Given the description of an element on the screen output the (x, y) to click on. 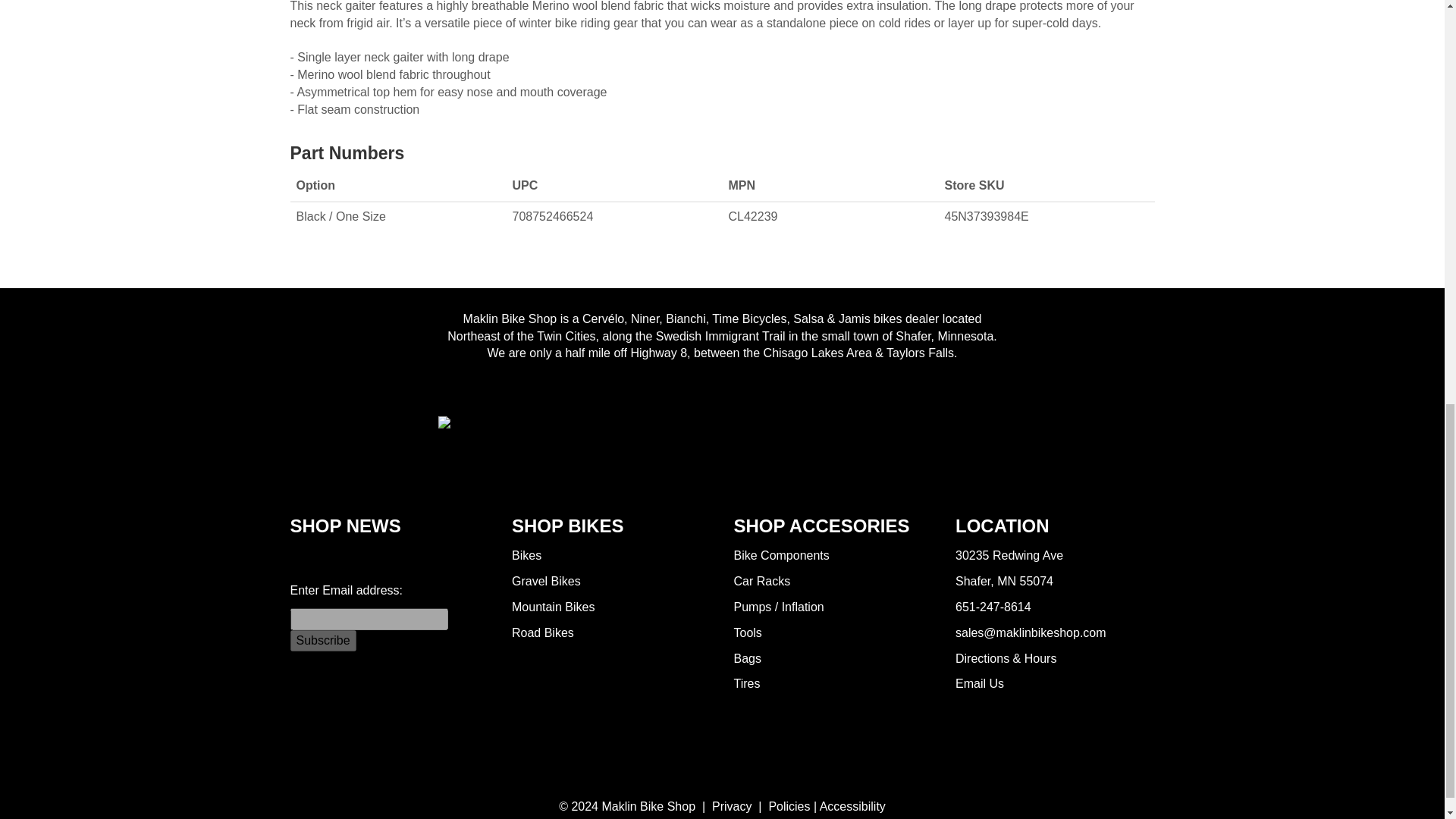
Subscribe (322, 640)
